Given the description of an element on the screen output the (x, y) to click on. 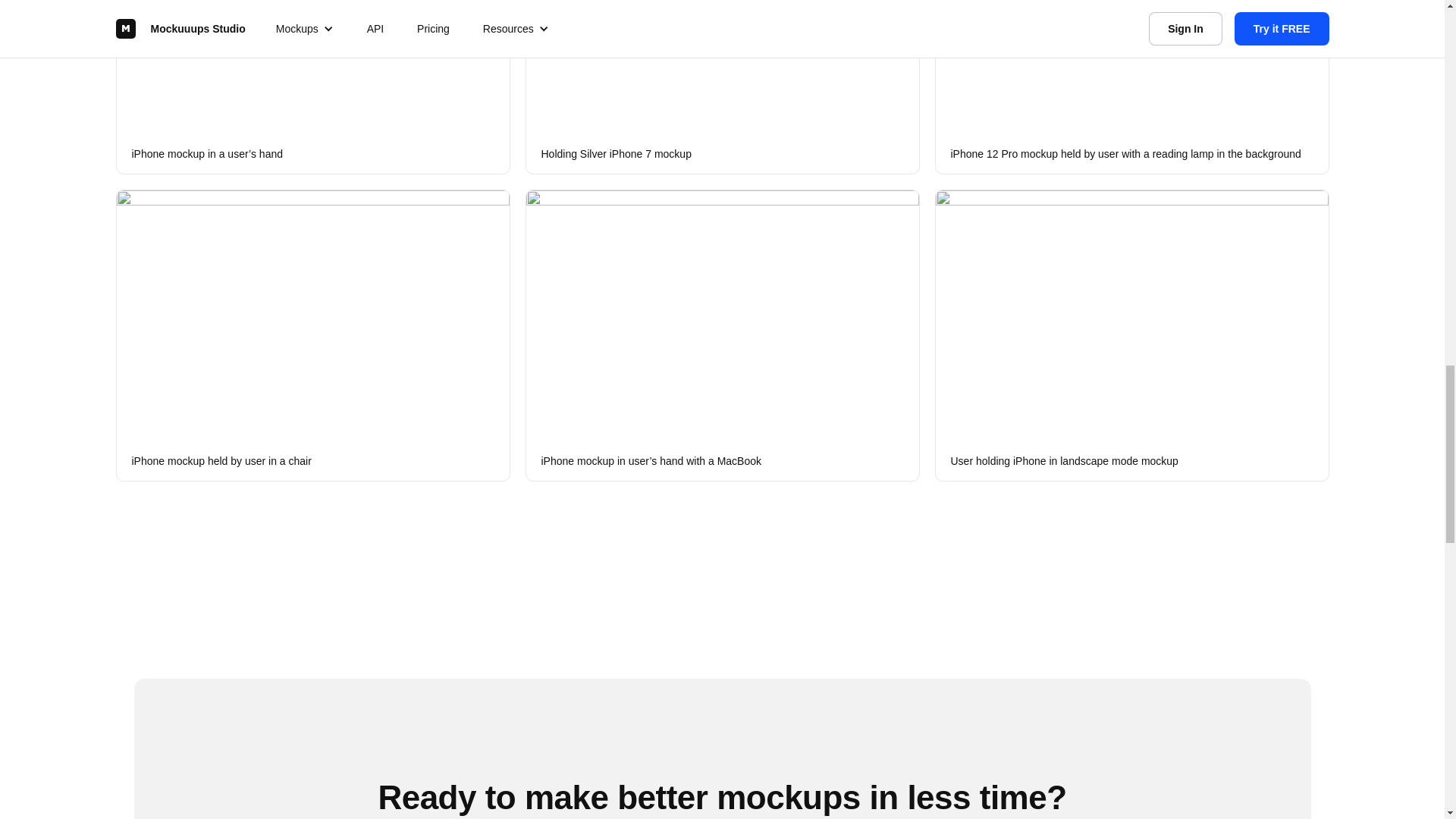
User holding iPhone in landscape mode mockup (1130, 335)
iPhone mockup held by user in a chair (312, 335)
Holding Silver iPhone 7 mockup (721, 87)
